Given the description of an element on the screen output the (x, y) to click on. 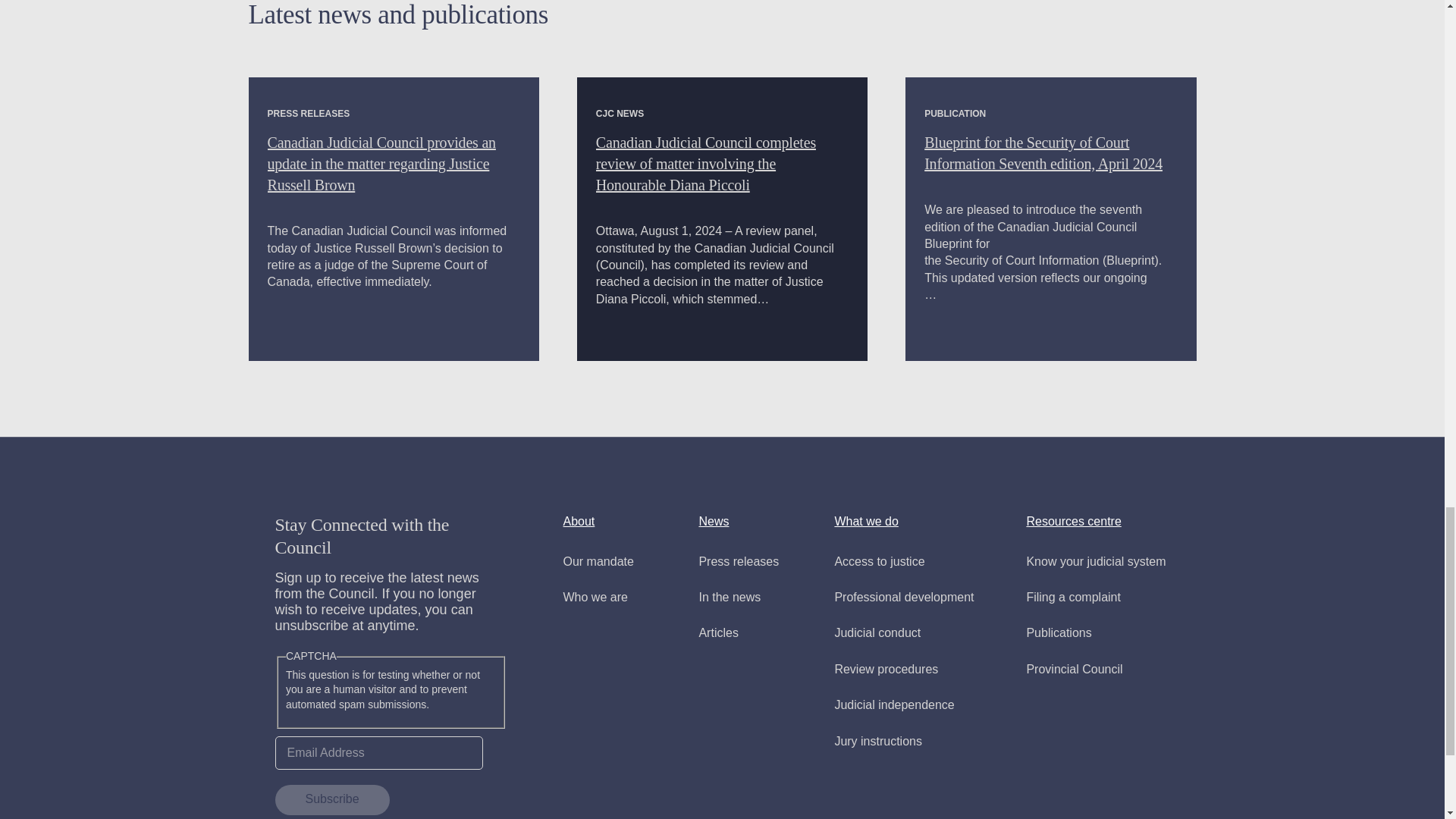
PRESS RELEASES (307, 113)
Subscribe (331, 799)
CJC NEWS (619, 113)
